Given the description of an element on the screen output the (x, y) to click on. 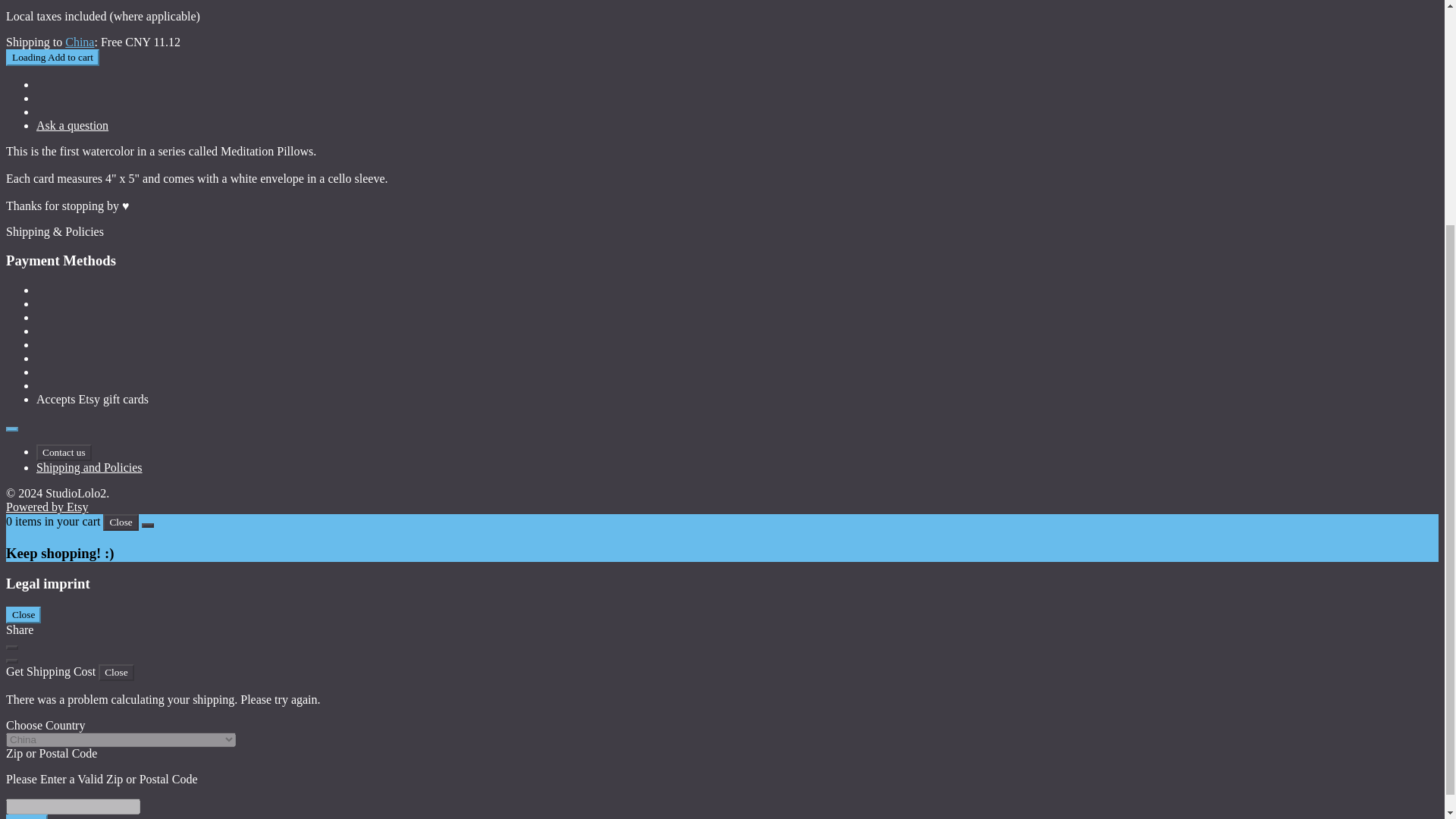
Shipping and Policies (89, 467)
Loading Add to cart (52, 57)
China (79, 42)
Powered by Etsy (46, 506)
Ask a question (71, 124)
Contact us (63, 452)
Close (22, 614)
Close (116, 672)
Close (120, 522)
